Given the description of an element on the screen output the (x, y) to click on. 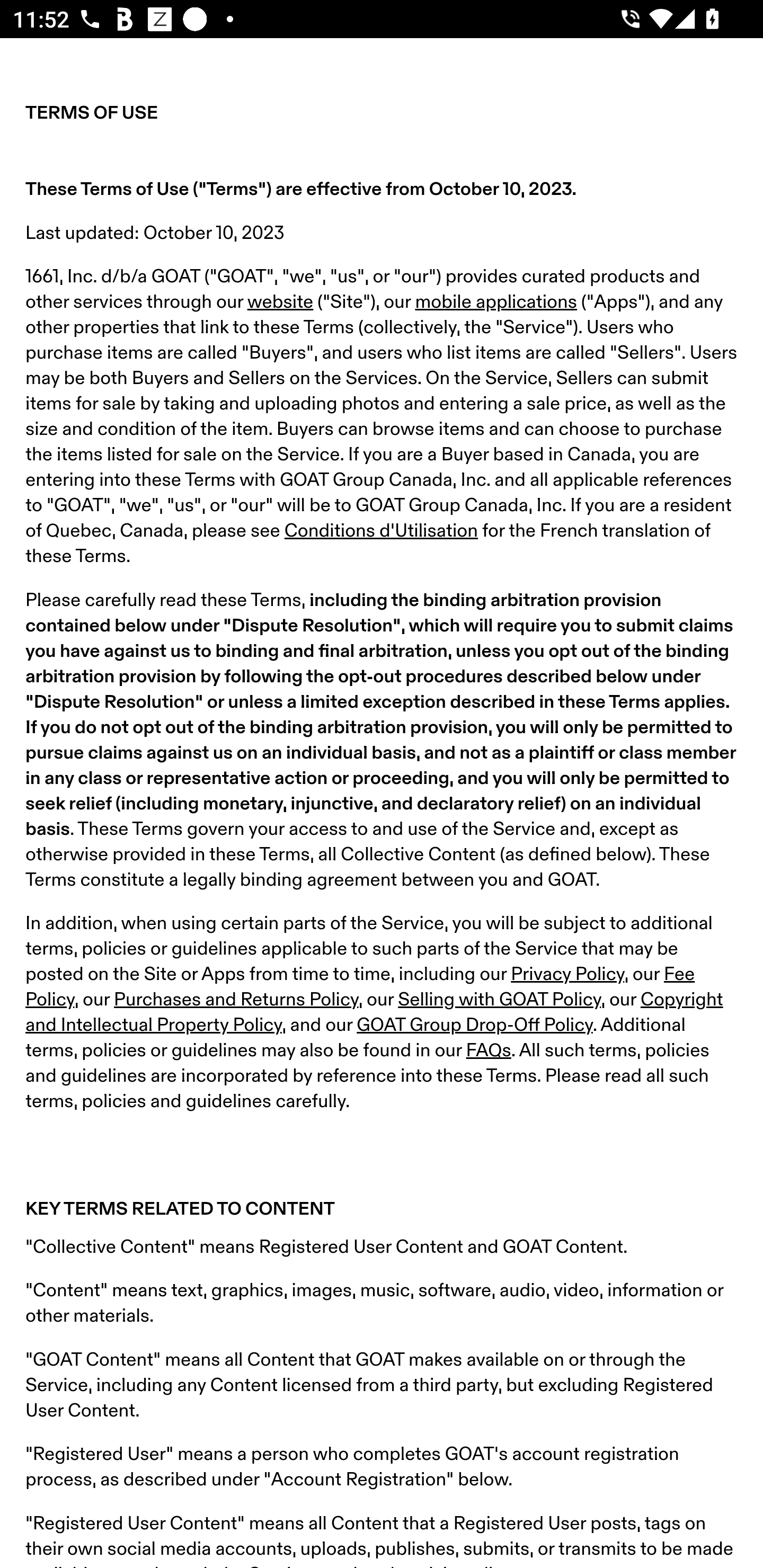
website (280, 302)
mobile applications (496, 302)
Conditions d’Utilisation (380, 531)
Fee Policy (360, 987)
Privacy Policy (567, 974)
Copyright and Intellectual Property Policy (374, 1012)
Purchases and Returns Policy (235, 1000)
Selling with GOAT Policy (499, 1000)
GOAT Group Drop-Off Policy (474, 1026)
FAQs (488, 1051)
